Given the description of an element on the screen output the (x, y) to click on. 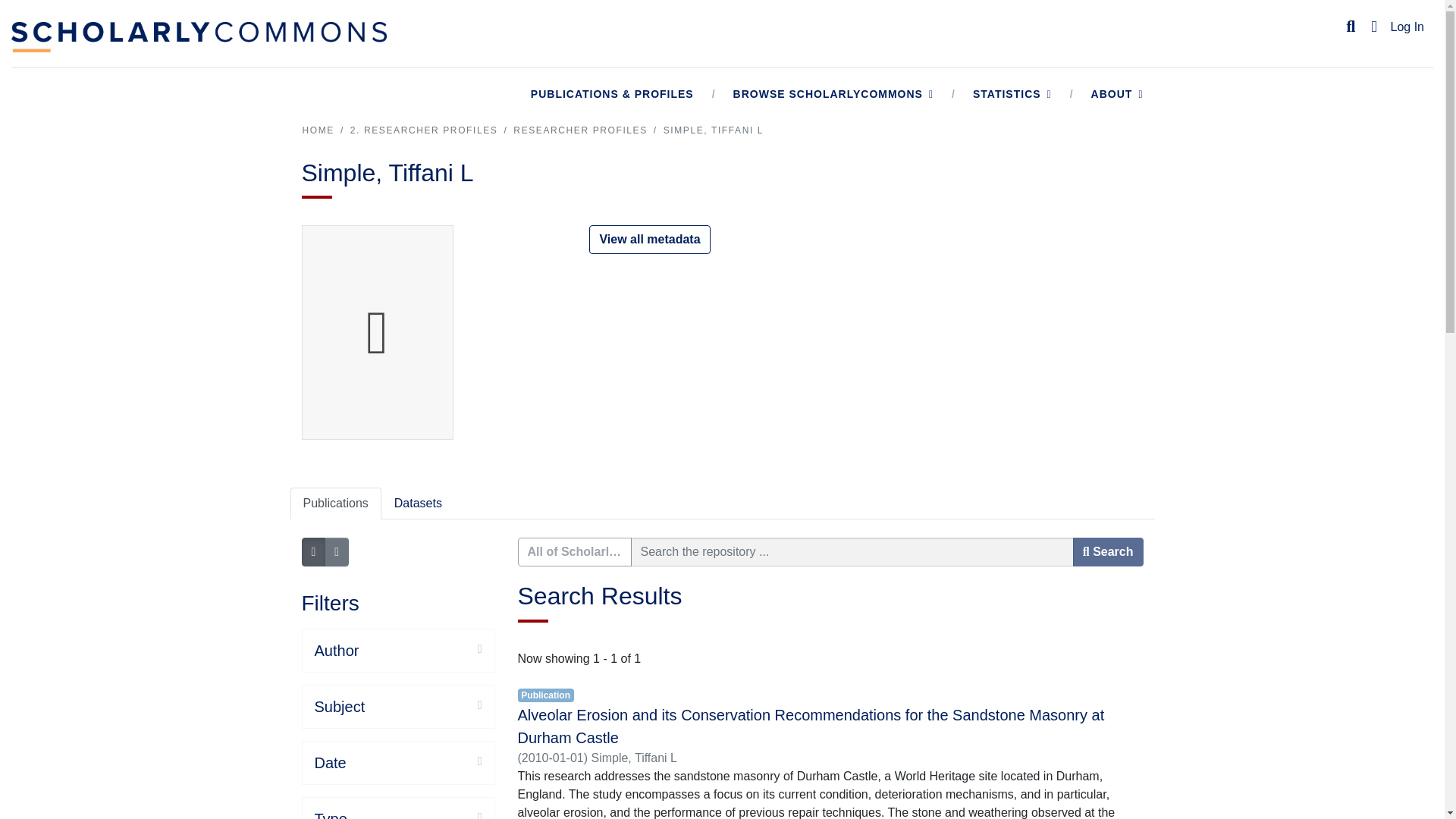
View all metadata (649, 239)
Log In (1406, 26)
BROWSE SCHOLARLYCOMMONS (833, 94)
RESEARCHER PROFILES (579, 130)
Expand filter (423, 705)
Search (1107, 551)
STATISTICS (1012, 94)
2. RESEARCHER PROFILES (423, 130)
Expand filter (413, 761)
Publications (334, 503)
